Given the description of an element on the screen output the (x, y) to click on. 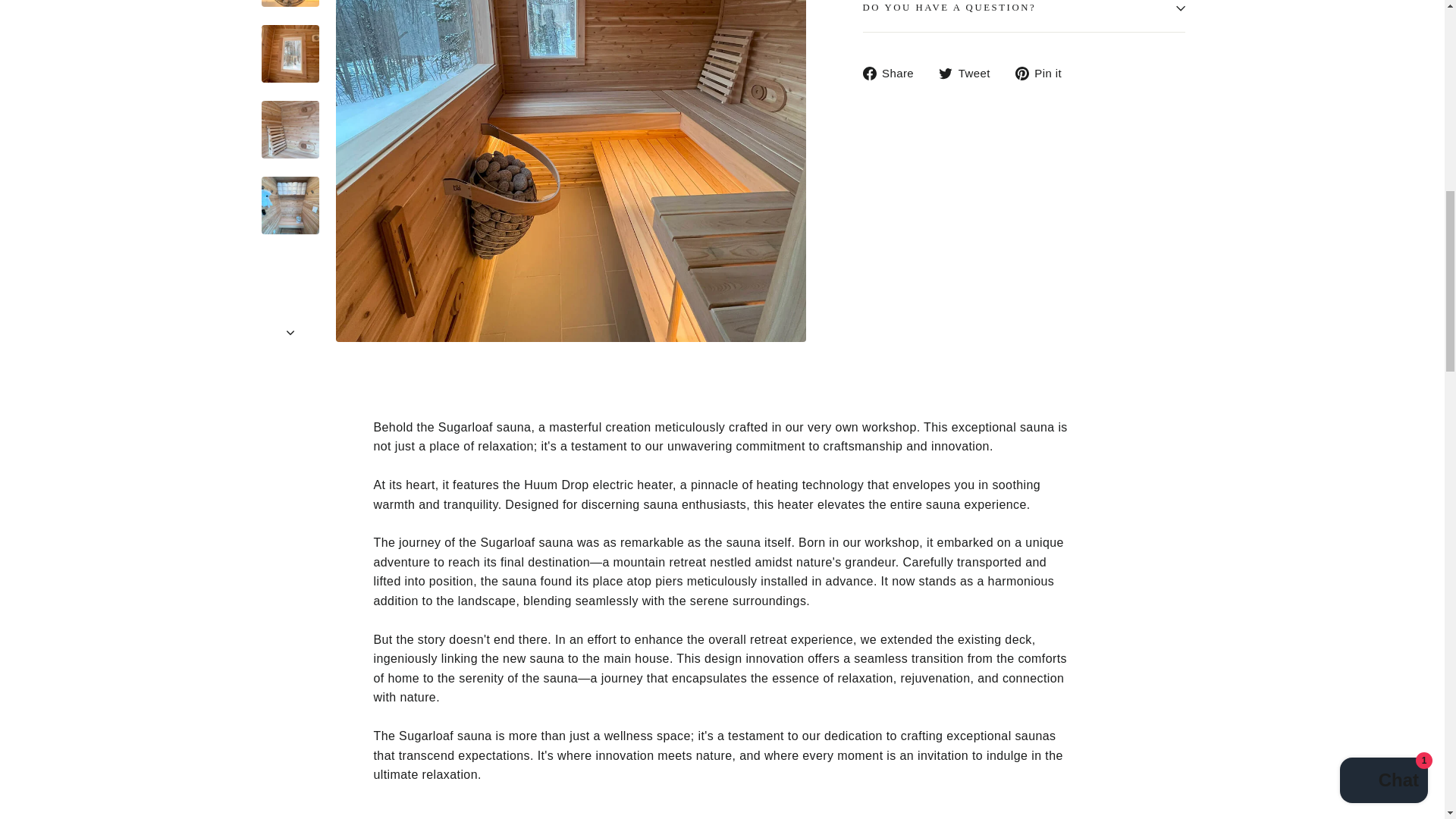
Pin on Pinterest (1043, 72)
twitter (945, 73)
Share on Facebook (894, 72)
Tweet on Twitter (970, 72)
